Given the description of an element on the screen output the (x, y) to click on. 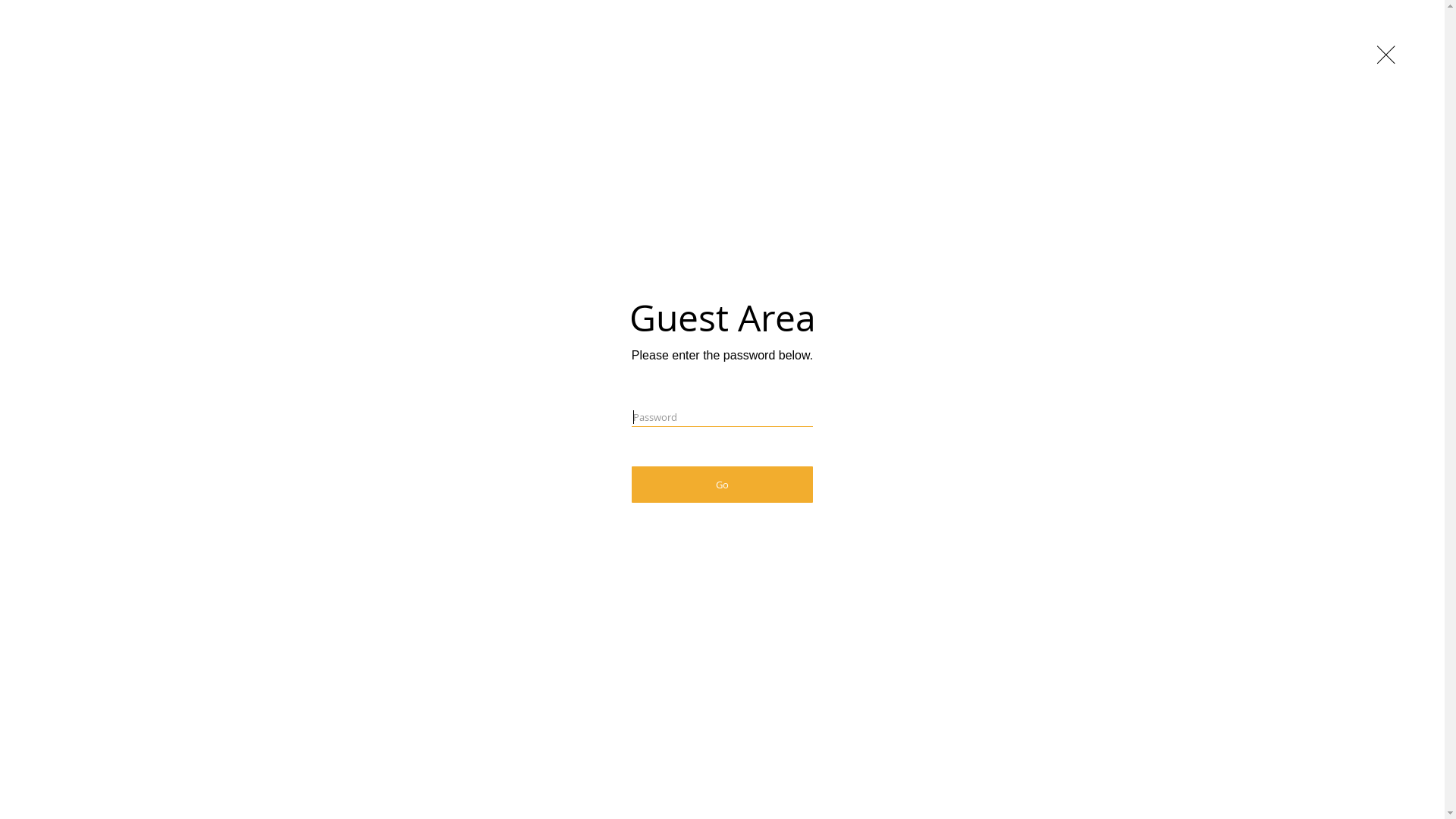
Go Element type: text (721, 484)
